Given the description of an element on the screen output the (x, y) to click on. 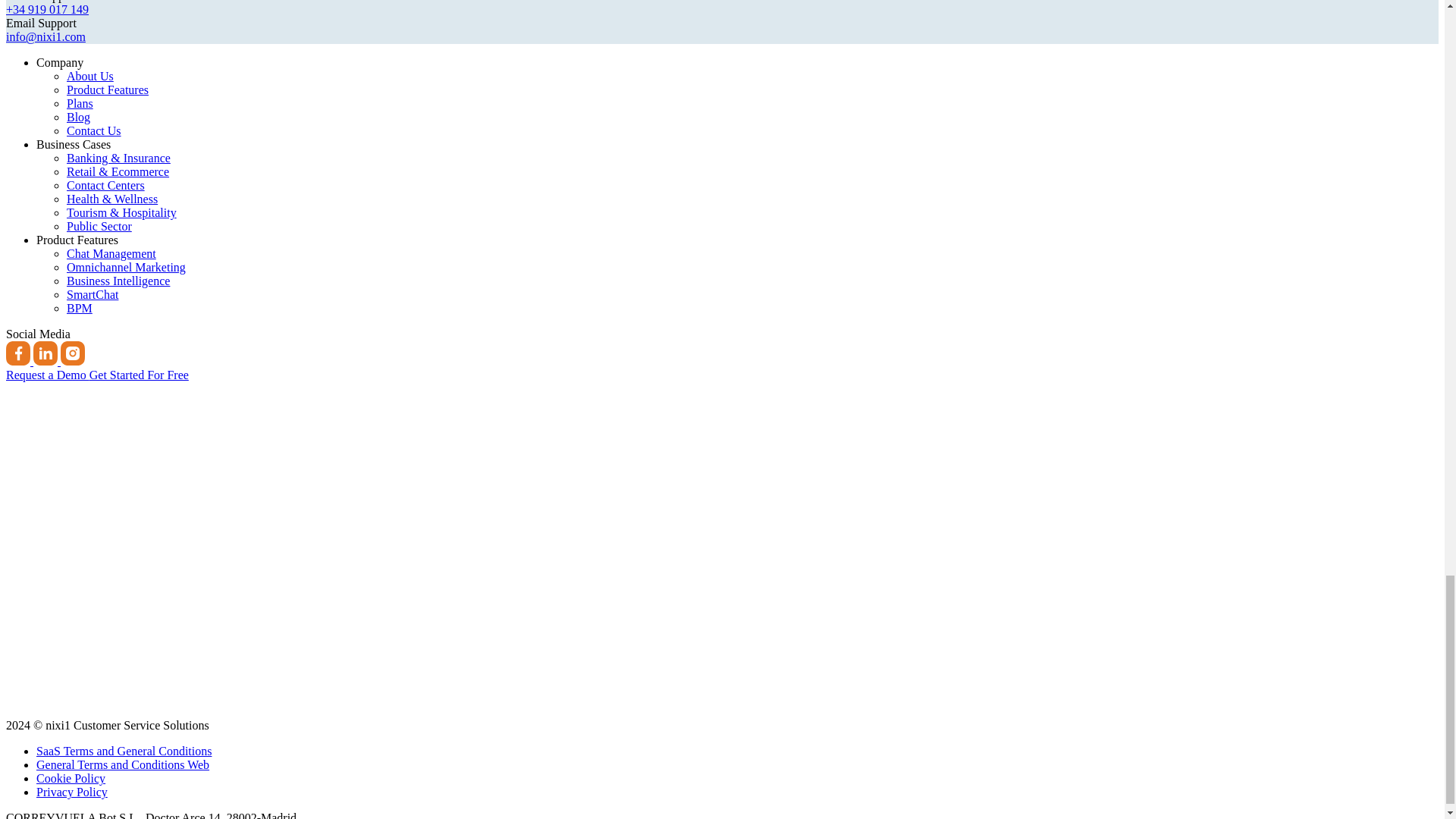
Blog (78, 116)
Plans (79, 103)
Product Features (107, 89)
Company (59, 62)
About Us (89, 75)
Public Sector (99, 226)
Product Features (76, 239)
Contact Centers (105, 185)
Business Cases (73, 144)
Contact Us (93, 130)
